Given the description of an element on the screen output the (x, y) to click on. 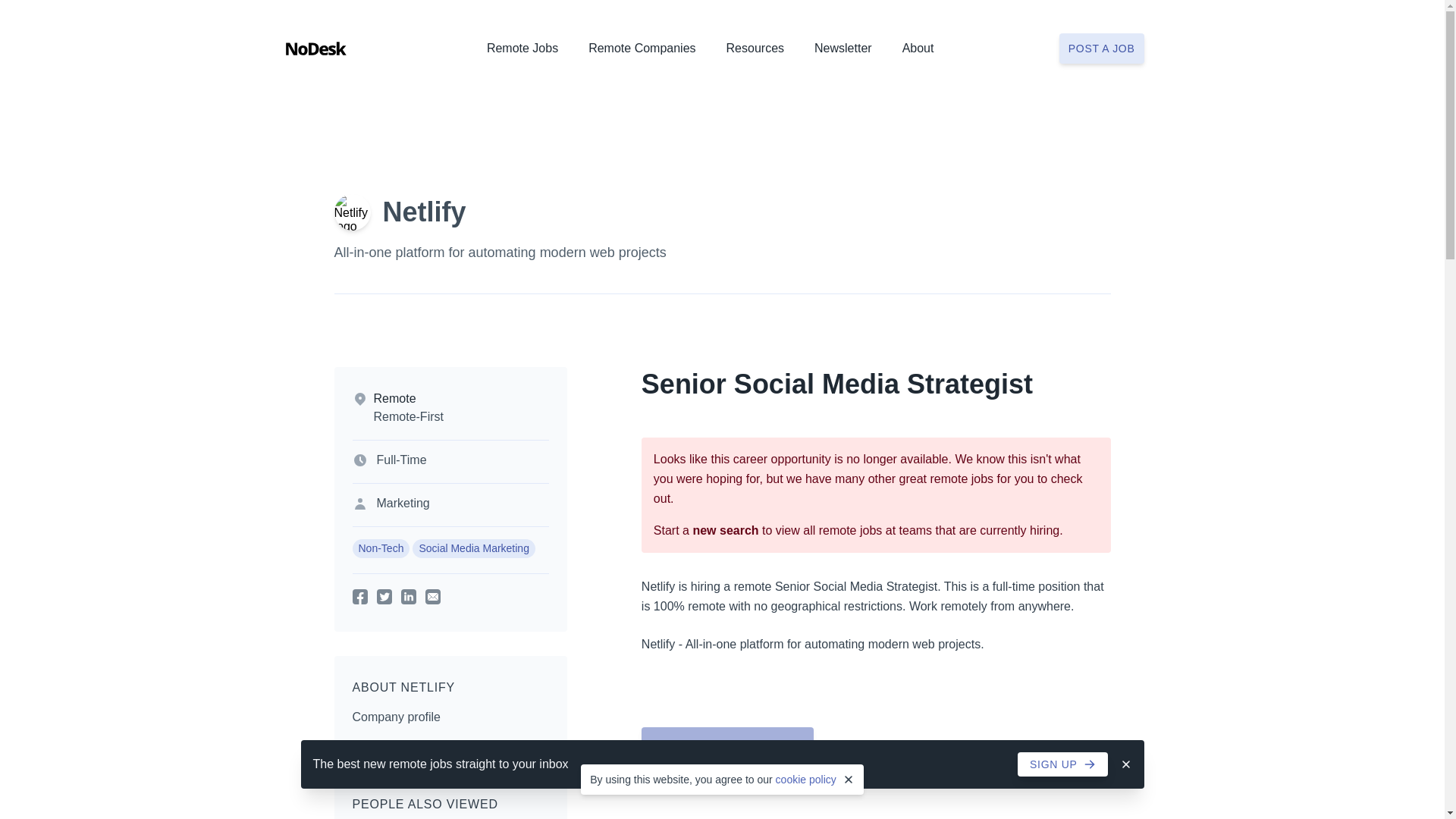
Twitter (383, 596)
Facebook (359, 596)
Newsletter (842, 51)
Facebook (359, 596)
Remote-First (407, 417)
Netlify (423, 211)
Full-Time (400, 459)
Company profile (396, 716)
LinkedIn (407, 596)
Twitter (383, 596)
Remote Companies (641, 51)
Resources (755, 51)
About (918, 51)
Marketing (402, 503)
new search (725, 530)
